Given the description of an element on the screen output the (x, y) to click on. 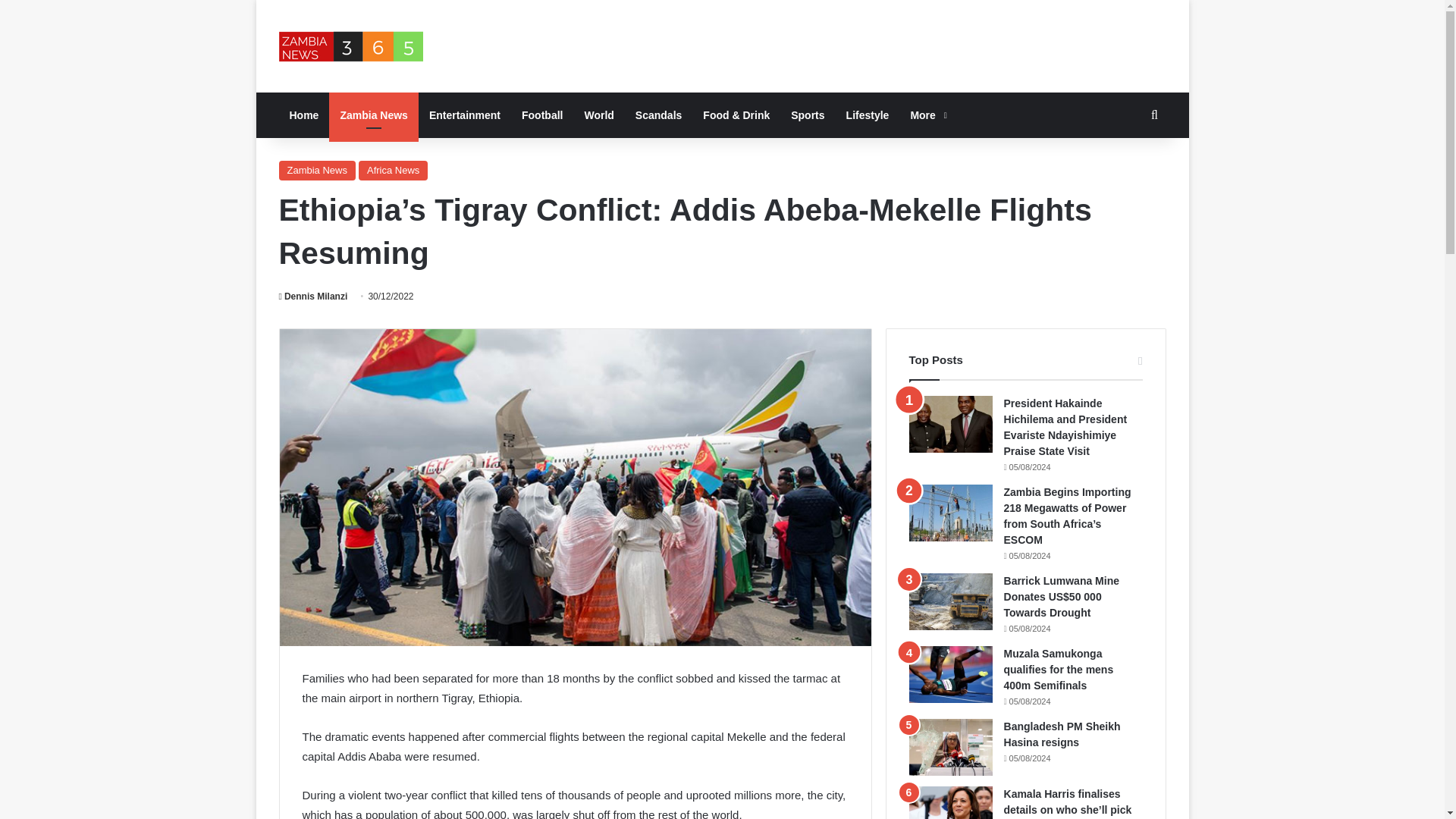
World (598, 115)
Dennis Milanzi (313, 296)
Zambia News365 (351, 46)
Zambia News (317, 170)
Sports (807, 115)
Football (542, 115)
More (926, 115)
Scandals (658, 115)
Dennis Milanzi (313, 296)
Africa News (393, 170)
